Given the description of an element on the screen output the (x, y) to click on. 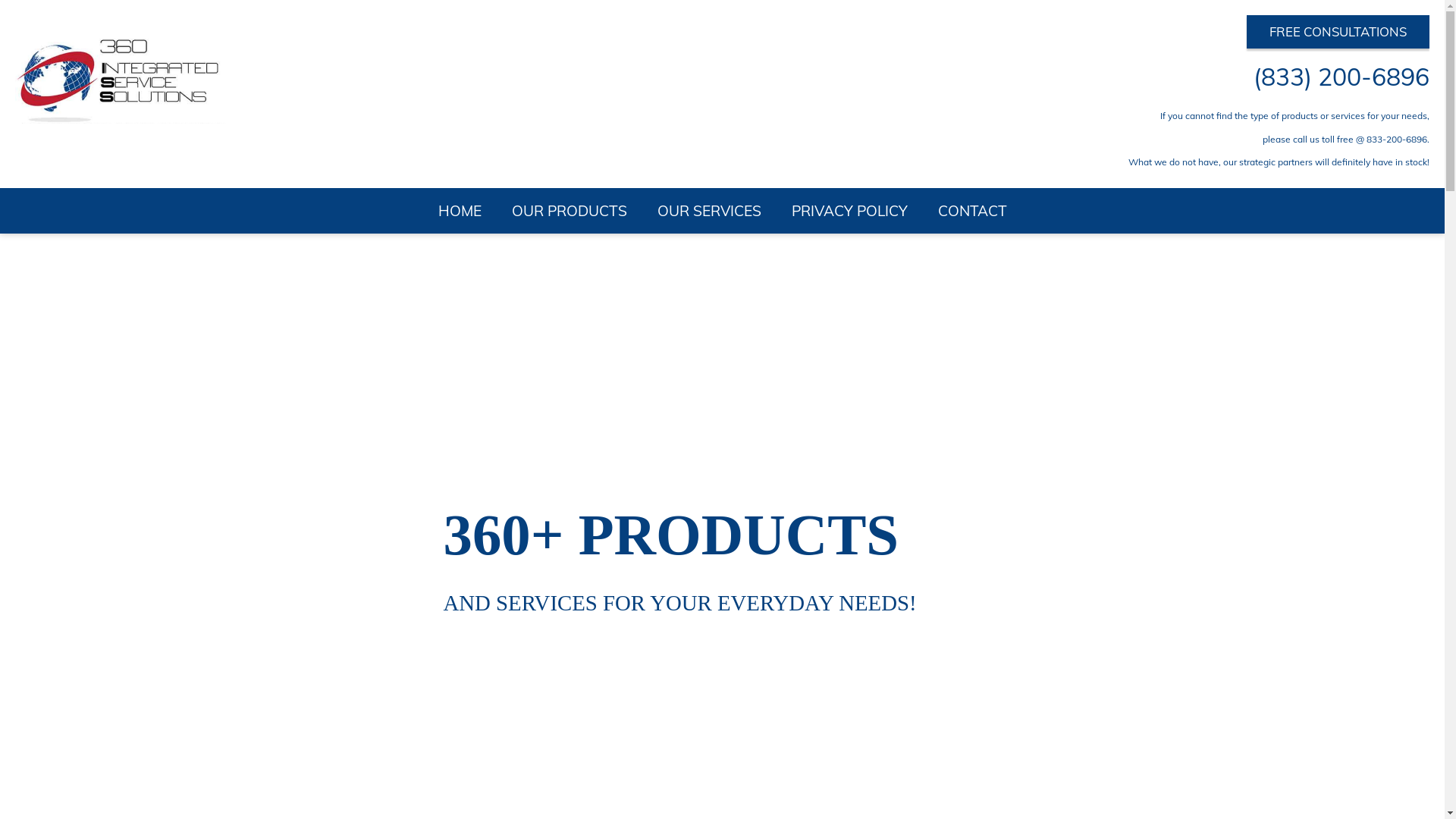
Our Products Element type: text (60, 169)
(833) 200-6896 Element type: text (81, 53)
Free Consultations Element type: text (40, 297)
Privacy Policy Element type: text (62, 192)
Our Services Element type: text (59, 180)
Contact Element type: text (50, 203)
Free Consultations Element type: text (40, 33)
Home Element type: text (47, 150)
